Given the description of an element on the screen output the (x, y) to click on. 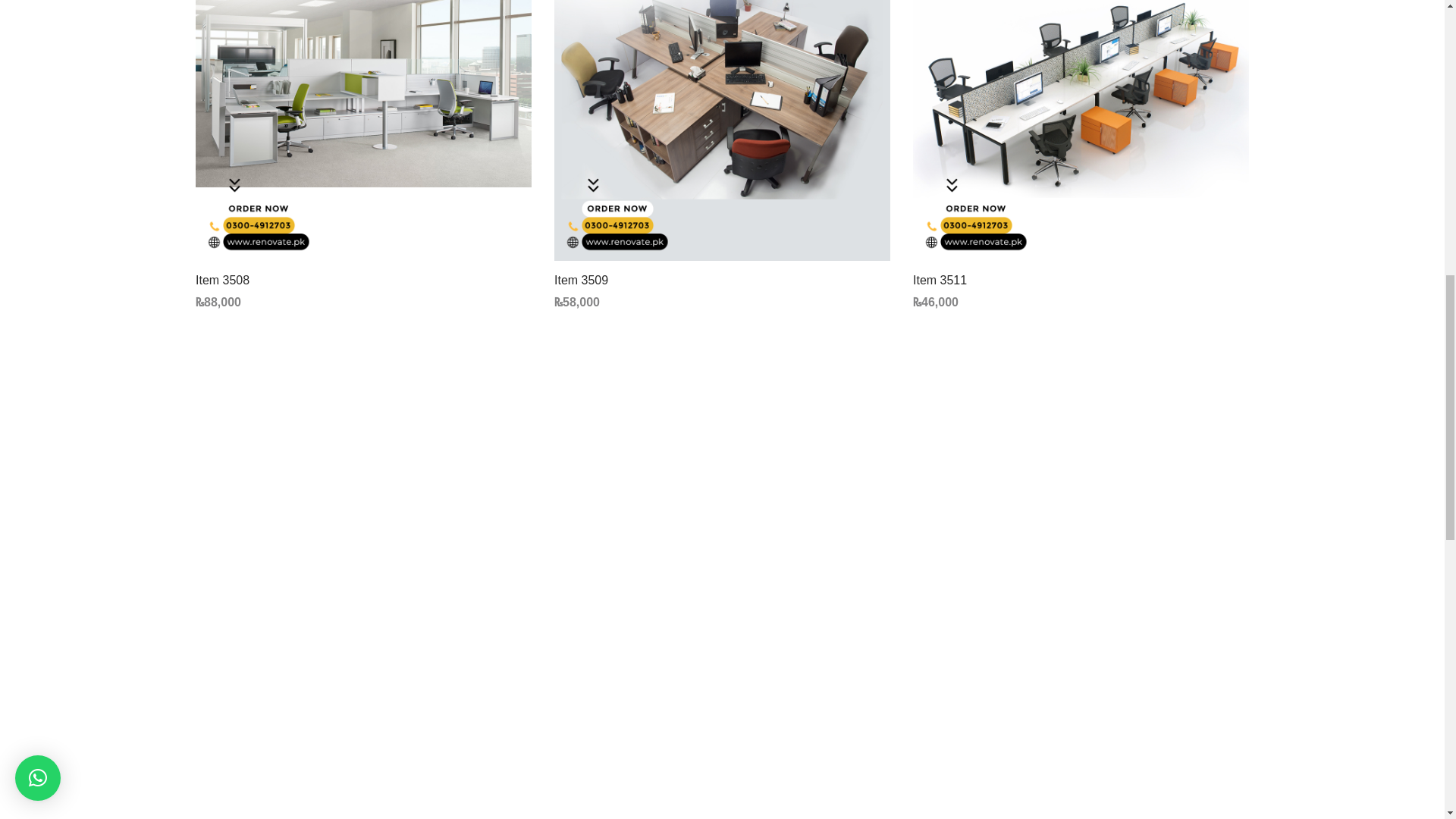
Item 3508 (363, 130)
